Given the description of an element on the screen output the (x, y) to click on. 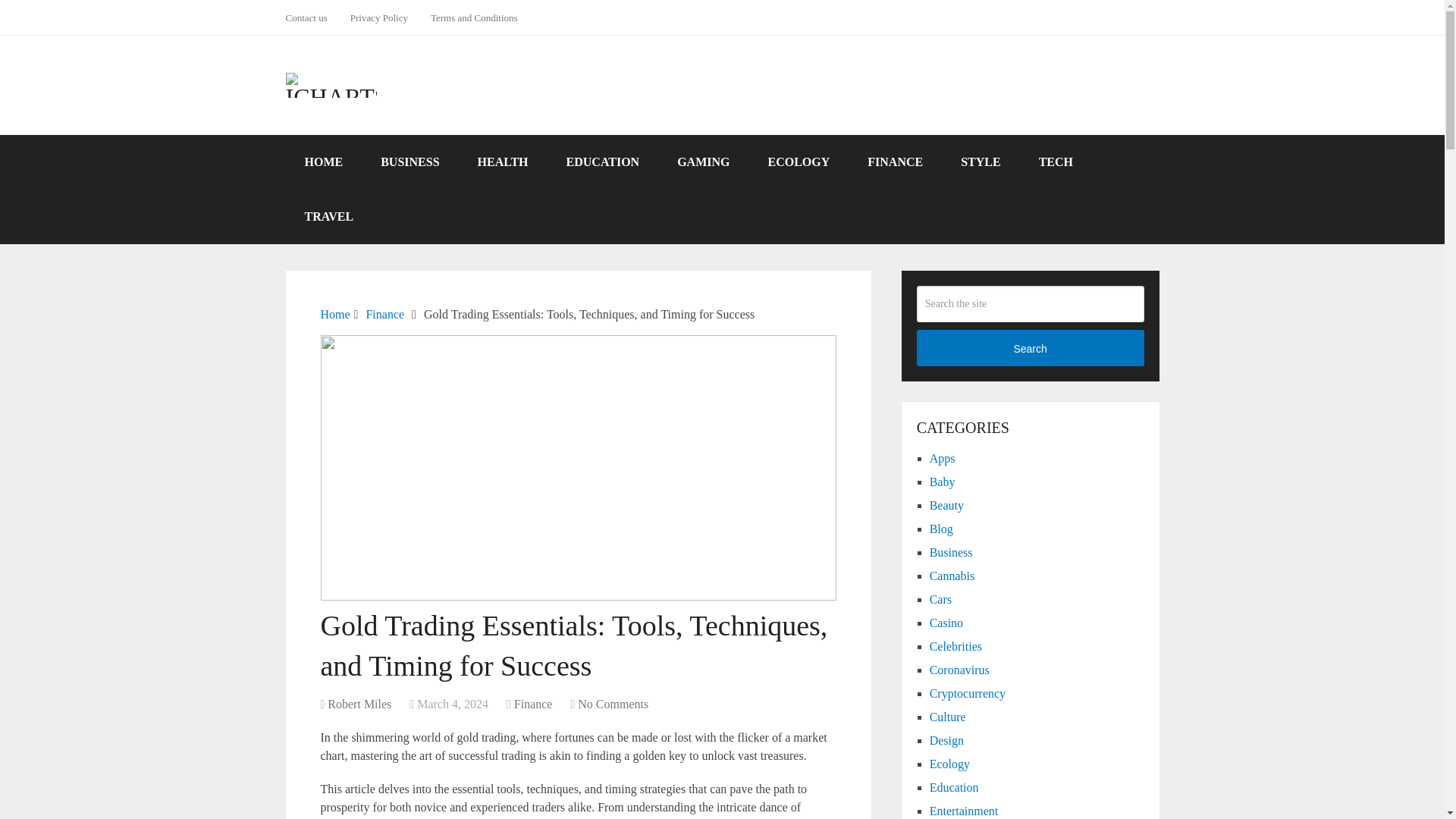
BUSINESS (409, 162)
TECH (1056, 162)
GAMING (703, 162)
View all posts in Finance (533, 703)
Finance (384, 314)
Blog (941, 528)
HOME (323, 162)
Apps (942, 458)
Cannabis (952, 575)
Privacy Policy (379, 17)
